Given the description of an element on the screen output the (x, y) to click on. 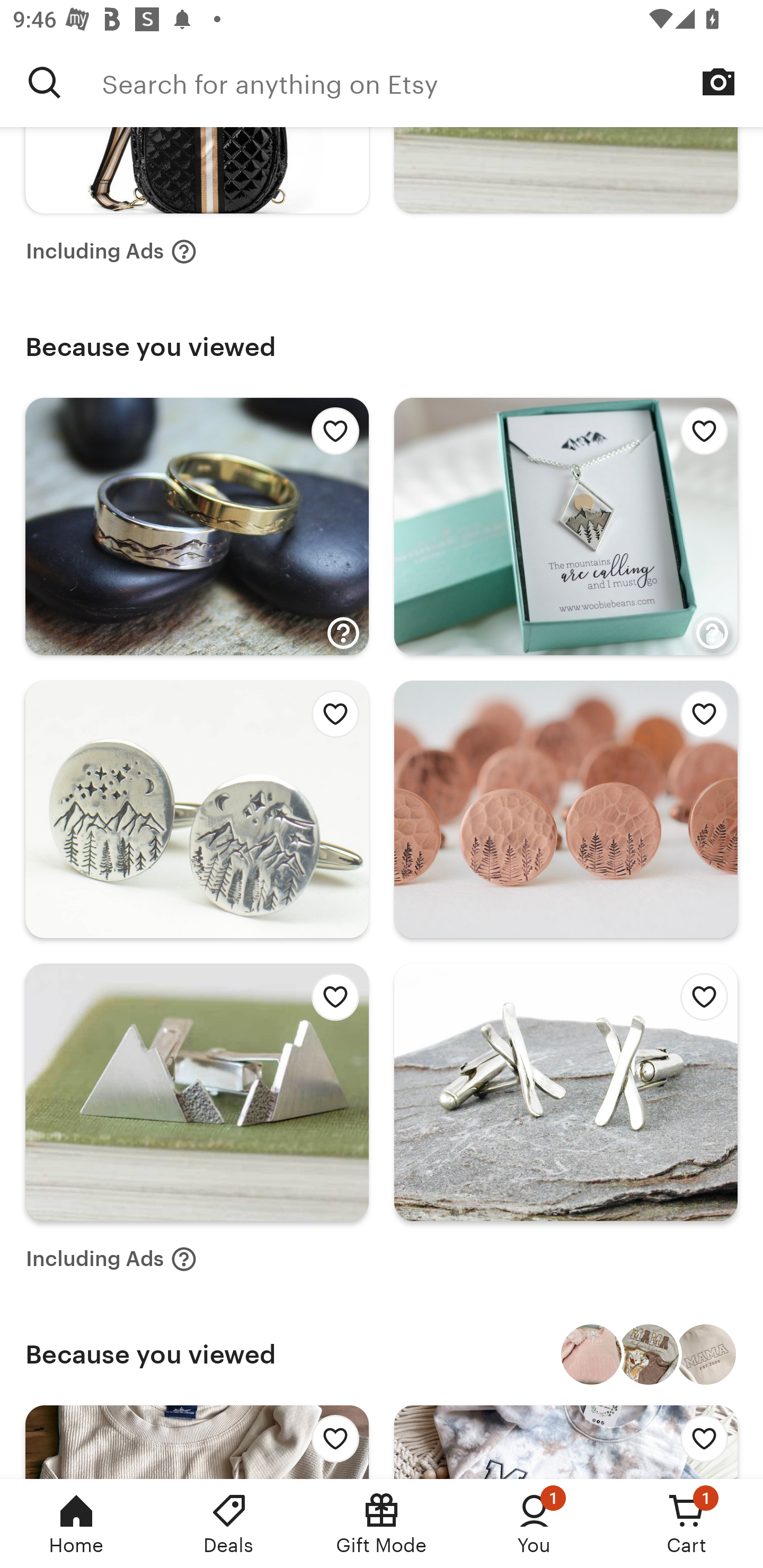
Search for anything on Etsy (44, 82)
Search by image (718, 81)
Search for anything on Etsy (432, 82)
Including Ads (111, 251)
Including Ads (111, 1258)
Deals (228, 1523)
Gift Mode (381, 1523)
You, 1 new notification You (533, 1523)
Cart, 1 new notification Cart (686, 1523)
